Given the description of an element on the screen output the (x, y) to click on. 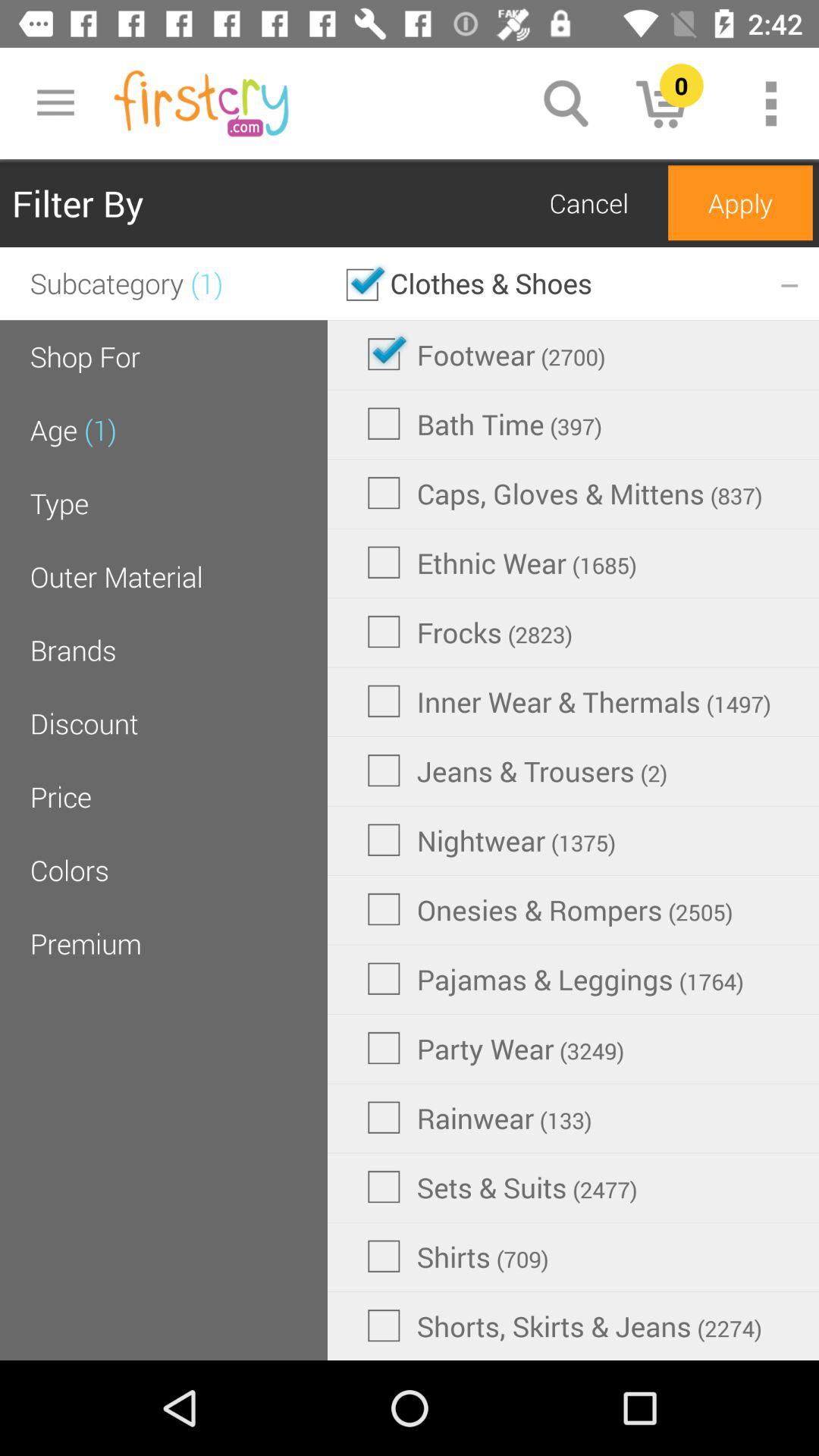
launch item above the filter by icon (55, 103)
